Given the description of an element on the screen output the (x, y) to click on. 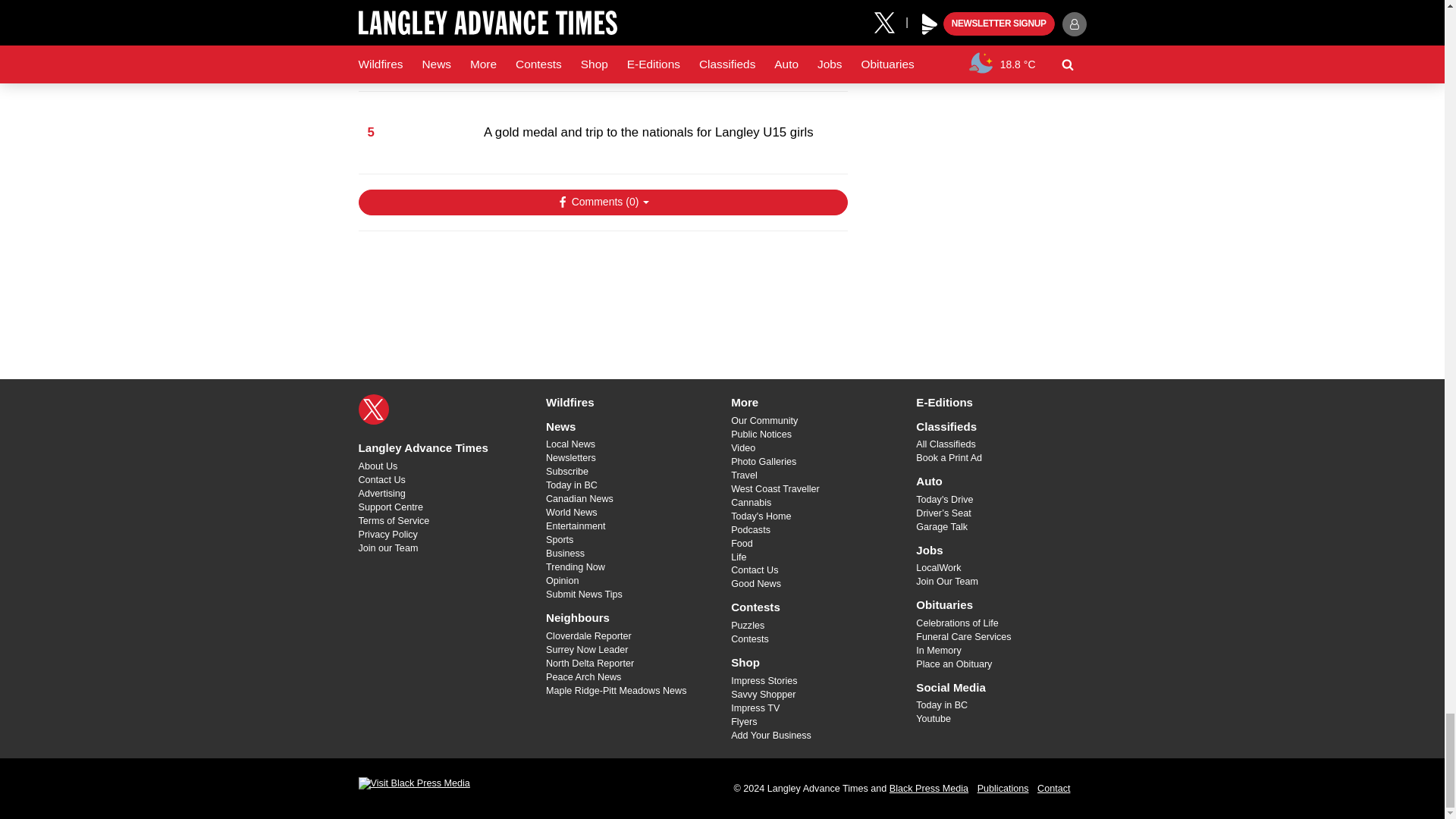
X (373, 409)
Show Comments (602, 202)
